Given the description of an element on the screen output the (x, y) to click on. 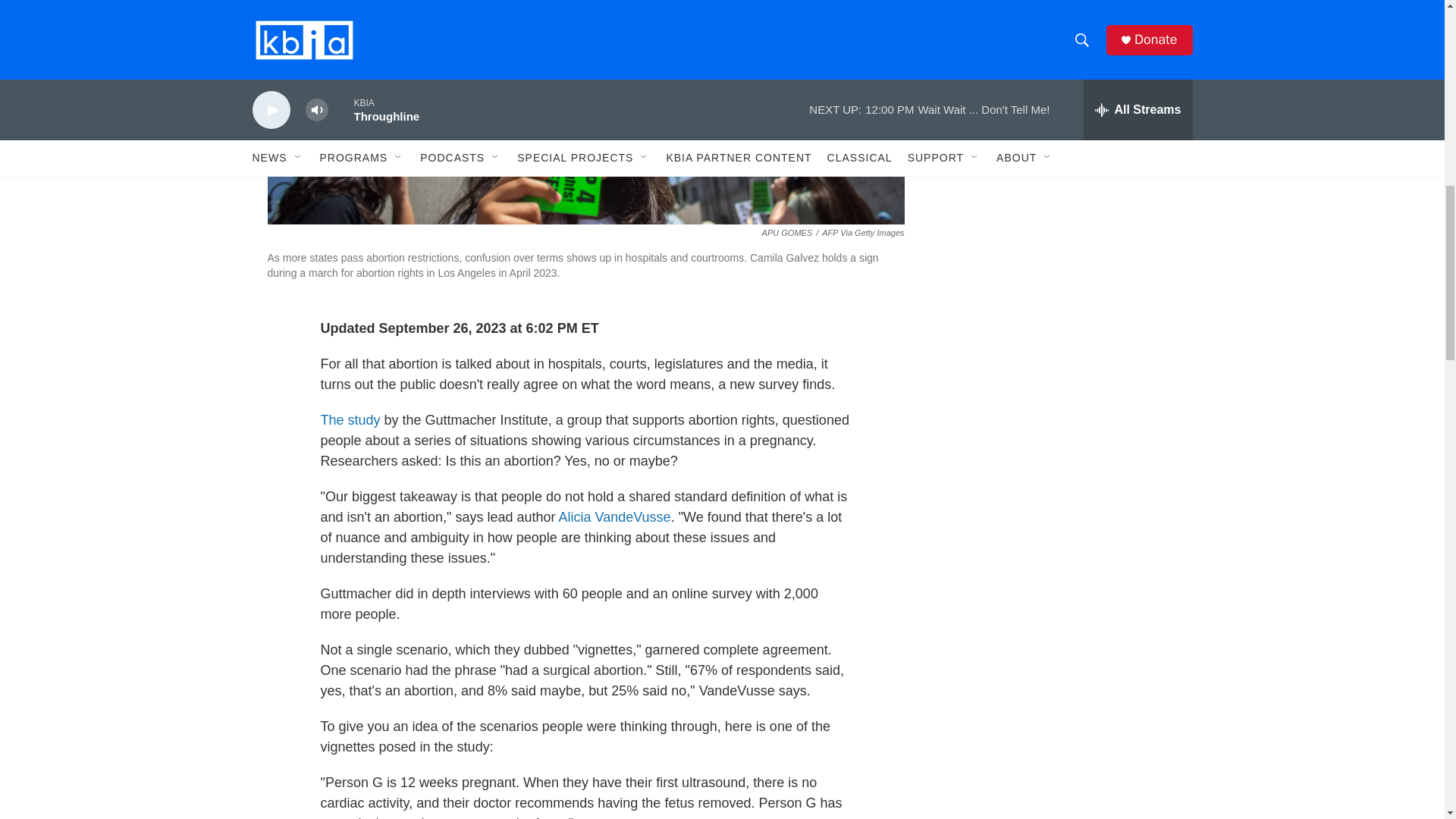
3rd party ad content (1062, 16)
